Given the description of an element on the screen output the (x, y) to click on. 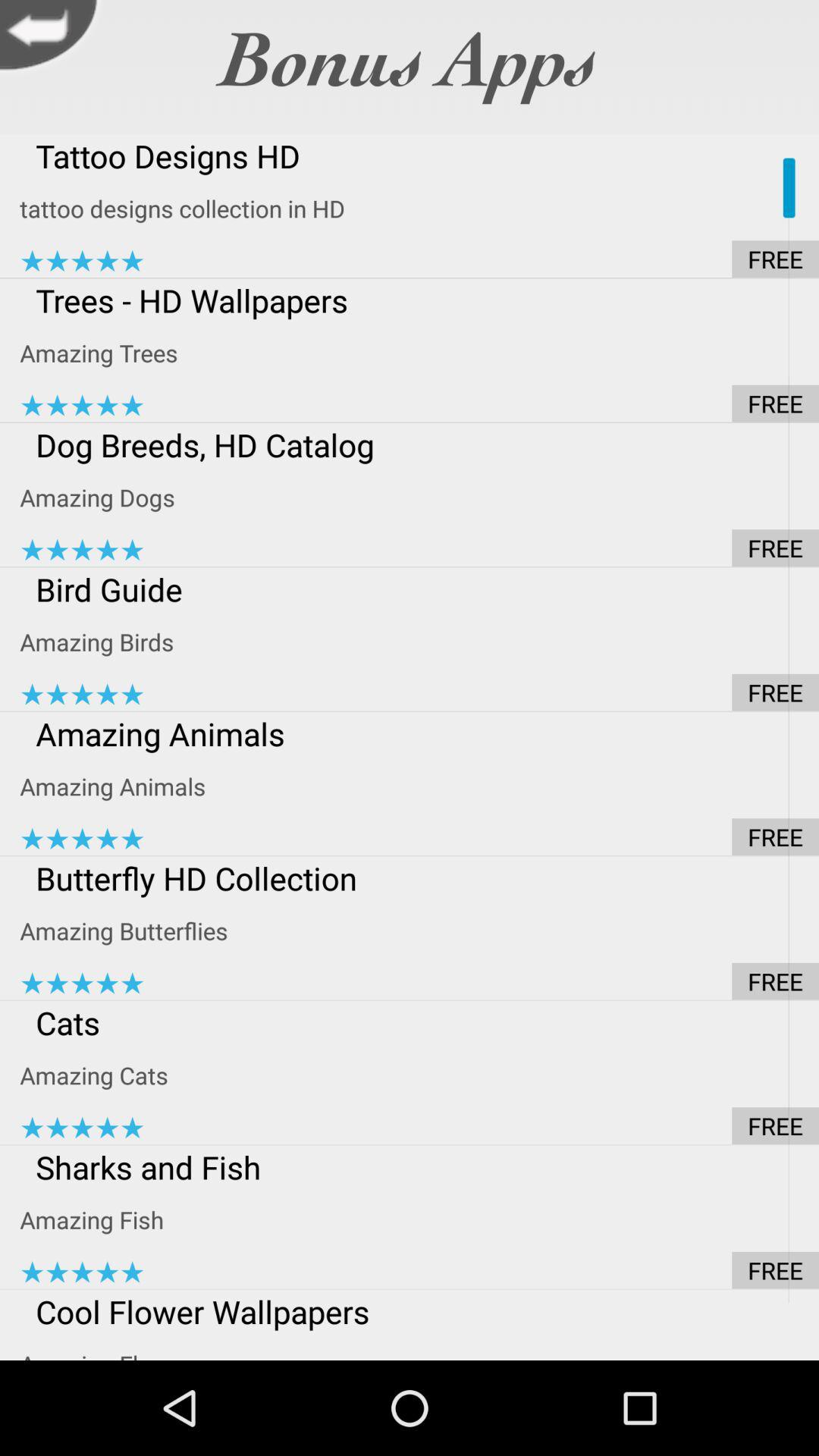
turn on app above the amazing fish  icon (419, 1166)
